Given the description of an element on the screen output the (x, y) to click on. 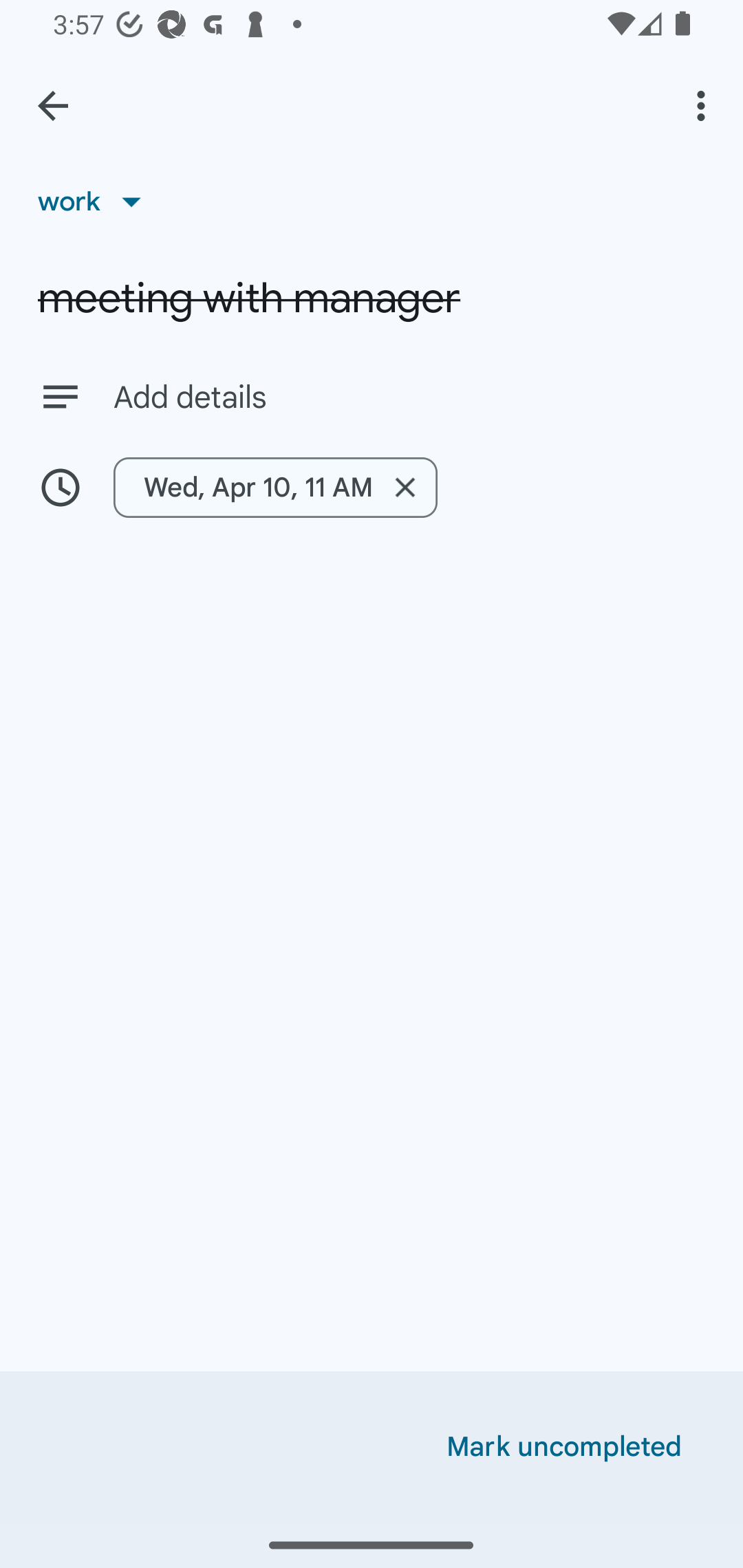
Back (53, 105)
More options (704, 105)
work List, work selected, 1 of 11 (95, 201)
meeting with manager (371, 298)
Add details (371, 396)
Add details (409, 397)
Wed, Apr 10, 11 AM Remove date/time (371, 487)
Wed, Apr 10, 11 AM Remove date/time (275, 487)
Mark uncompleted (564, 1446)
